Given the description of an element on the screen output the (x, y) to click on. 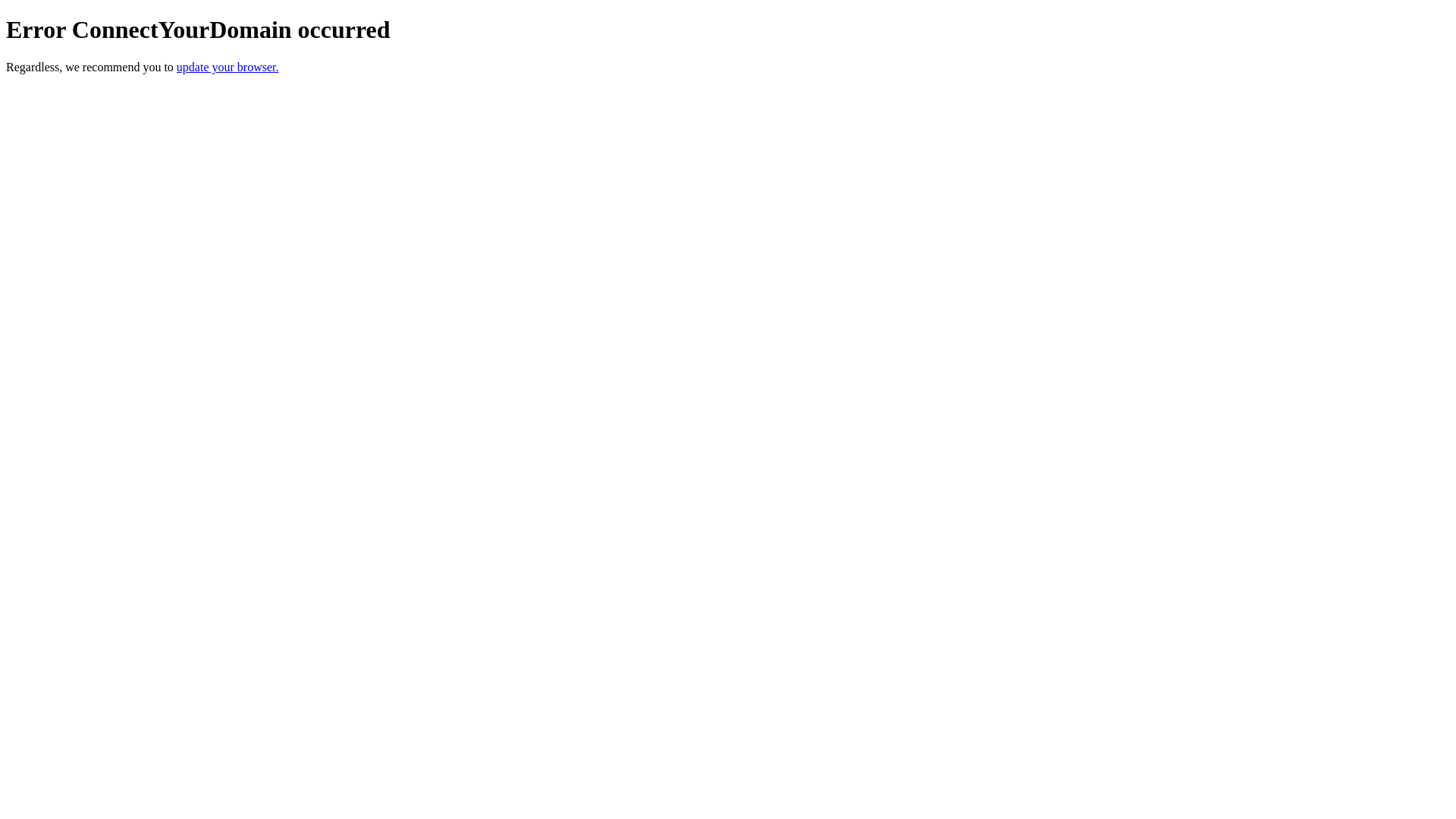
update your browser. Element type: text (227, 66)
